Given the description of an element on the screen output the (x, y) to click on. 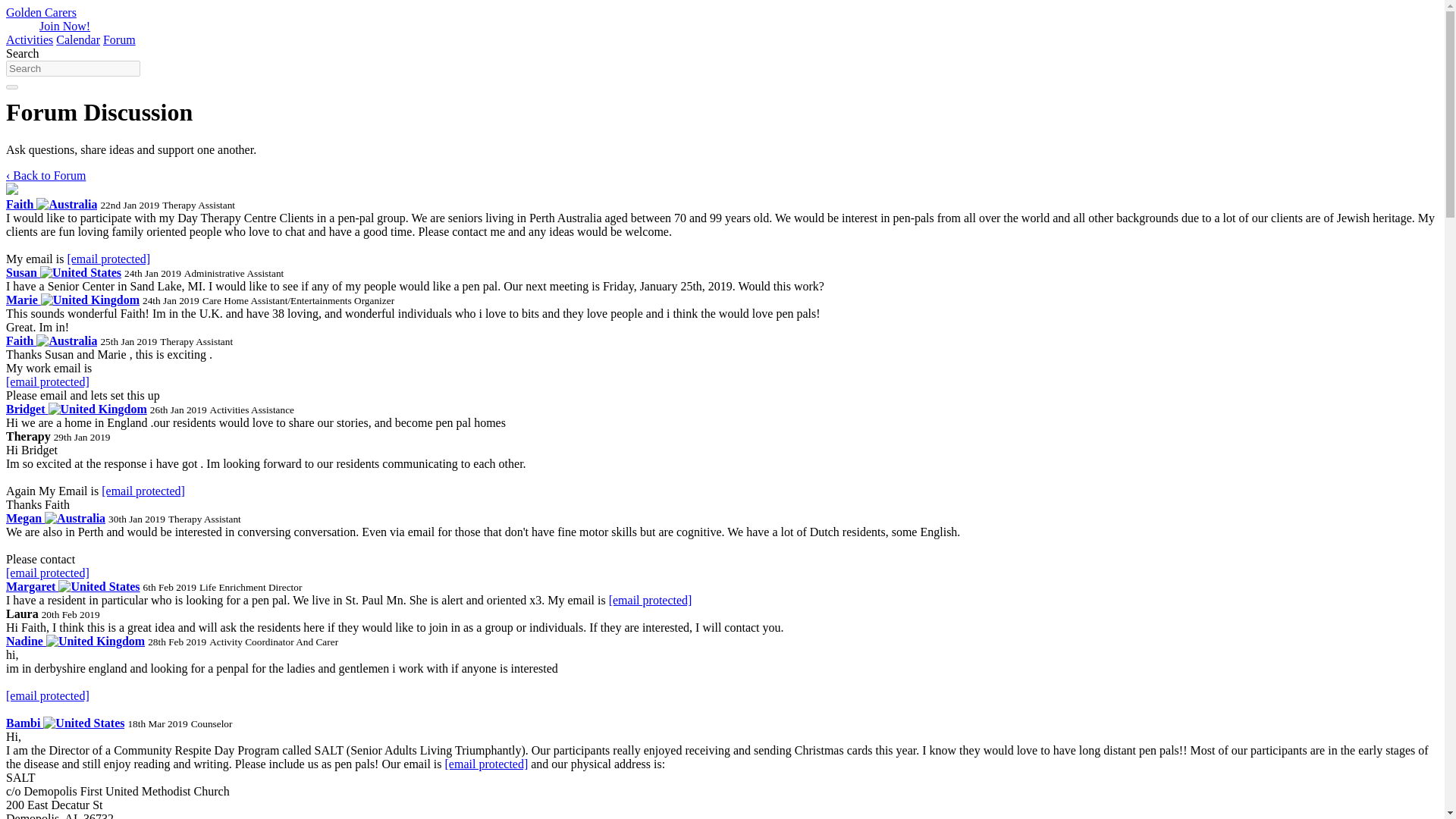
View Profile (72, 585)
Nadine (74, 640)
Faith (51, 204)
United Kingdom (97, 409)
Australia (66, 204)
Australia (74, 518)
Login (20, 25)
View Profile (74, 640)
Faith (51, 340)
View Profile (76, 408)
View Profile (64, 722)
United Kingdom (89, 300)
Marie (72, 299)
United States (80, 273)
Bridget (76, 408)
